Given the description of an element on the screen output the (x, y) to click on. 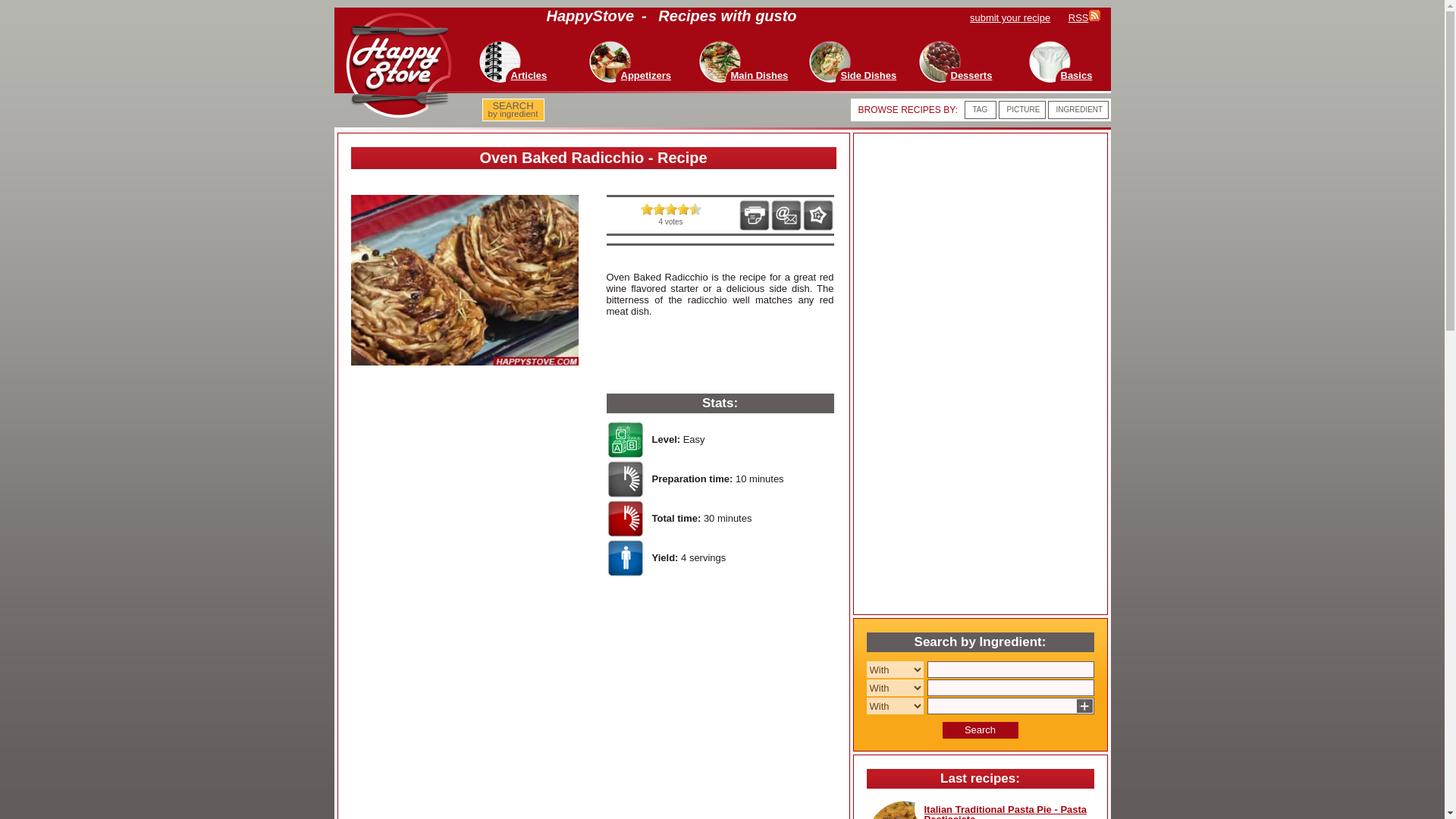
Search recipes by ingredient (512, 109)
Current rating 4.5 (694, 209)
submit your recipe (1017, 17)
Current rating 4.5 (646, 209)
PICTURE (1024, 108)
Current rating 4.5 (657, 209)
Email this page (786, 214)
TAG (979, 108)
Desserts (971, 75)
Browse recipes by tag (979, 108)
INGREDIENT (1078, 108)
Main Dishes (759, 75)
Basics (1075, 75)
Browse recipes by ingredient (1078, 108)
Add this page to your favorites (818, 214)
